Given the description of an element on the screen output the (x, y) to click on. 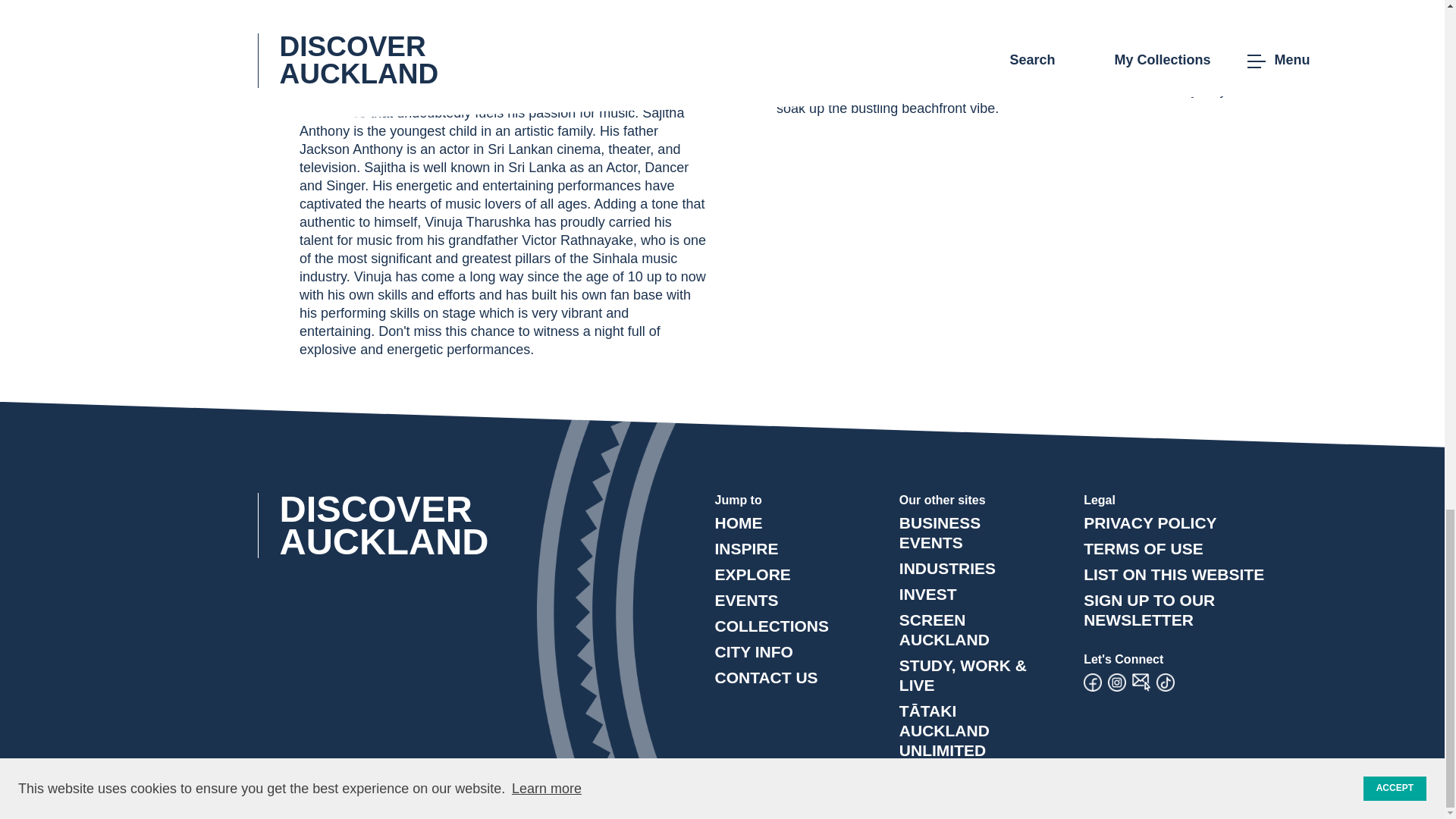
HOME (737, 522)
DISCOVER AUCKLAND (394, 525)
